Given the description of an element on the screen output the (x, y) to click on. 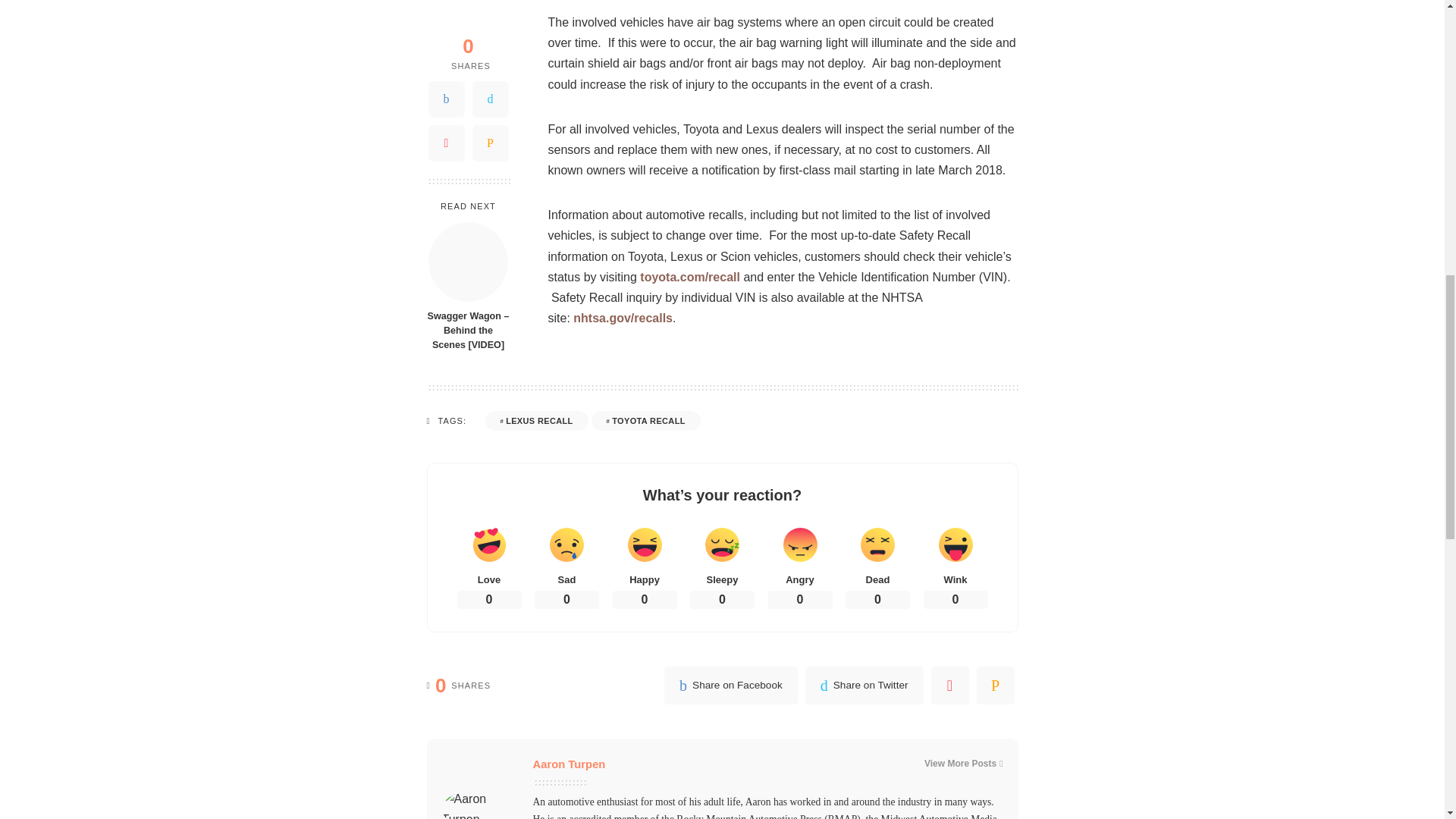
Pinterest (446, 14)
Email (489, 14)
lexus recall (536, 420)
